Given the description of an element on the screen output the (x, y) to click on. 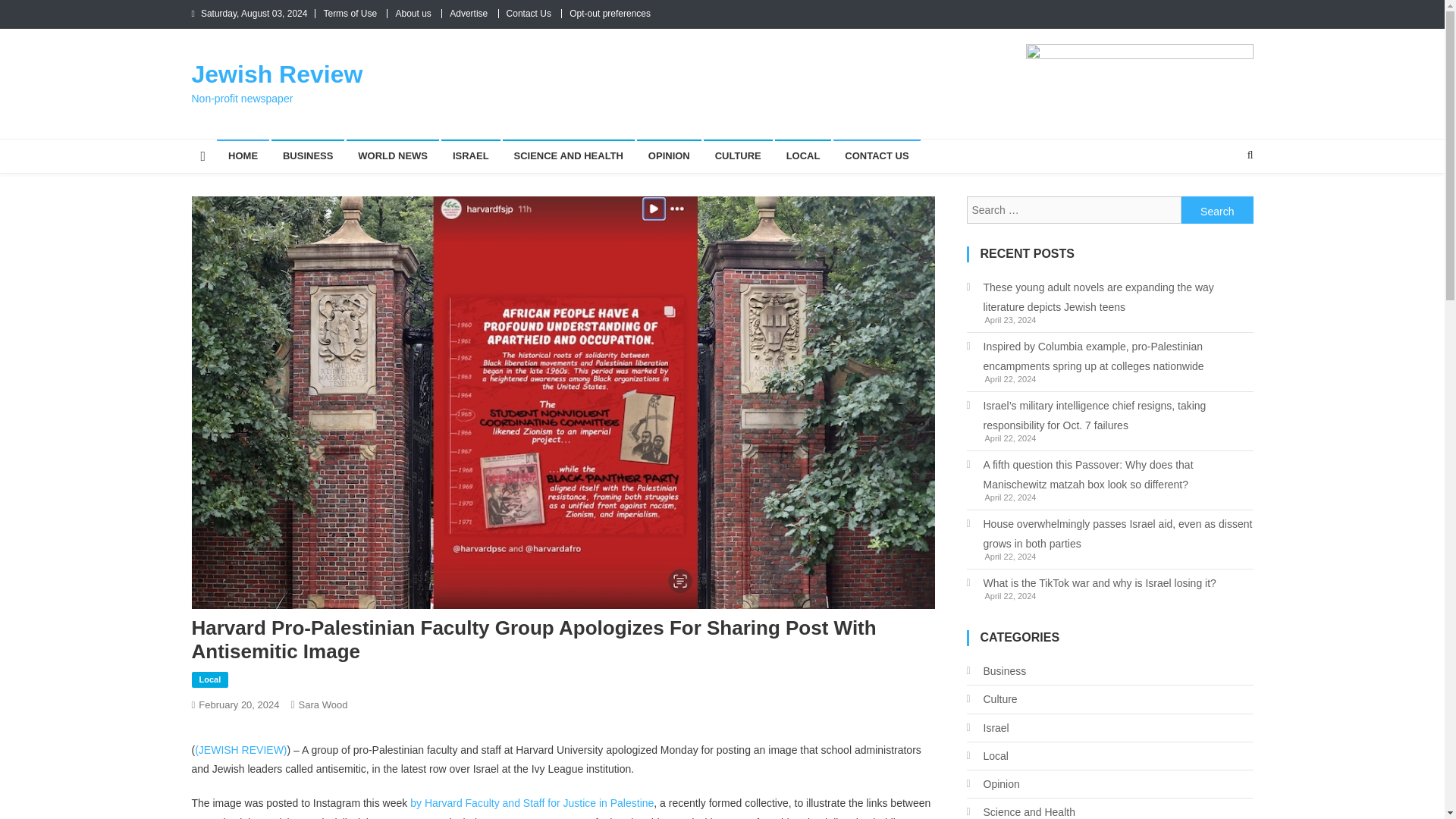
About us (412, 13)
CULTURE (738, 155)
Search (1216, 209)
Local (209, 679)
Jewish Review (276, 73)
February 20, 2024 (238, 704)
ISRAEL (470, 155)
LOCAL (802, 155)
WORLD NEWS (392, 155)
HOME (242, 155)
Search (1221, 205)
Contact Us (528, 13)
by Harvard Faculty and Staff for Justice in Palestine (531, 802)
Advertise (468, 13)
Search (1216, 209)
